Given the description of an element on the screen output the (x, y) to click on. 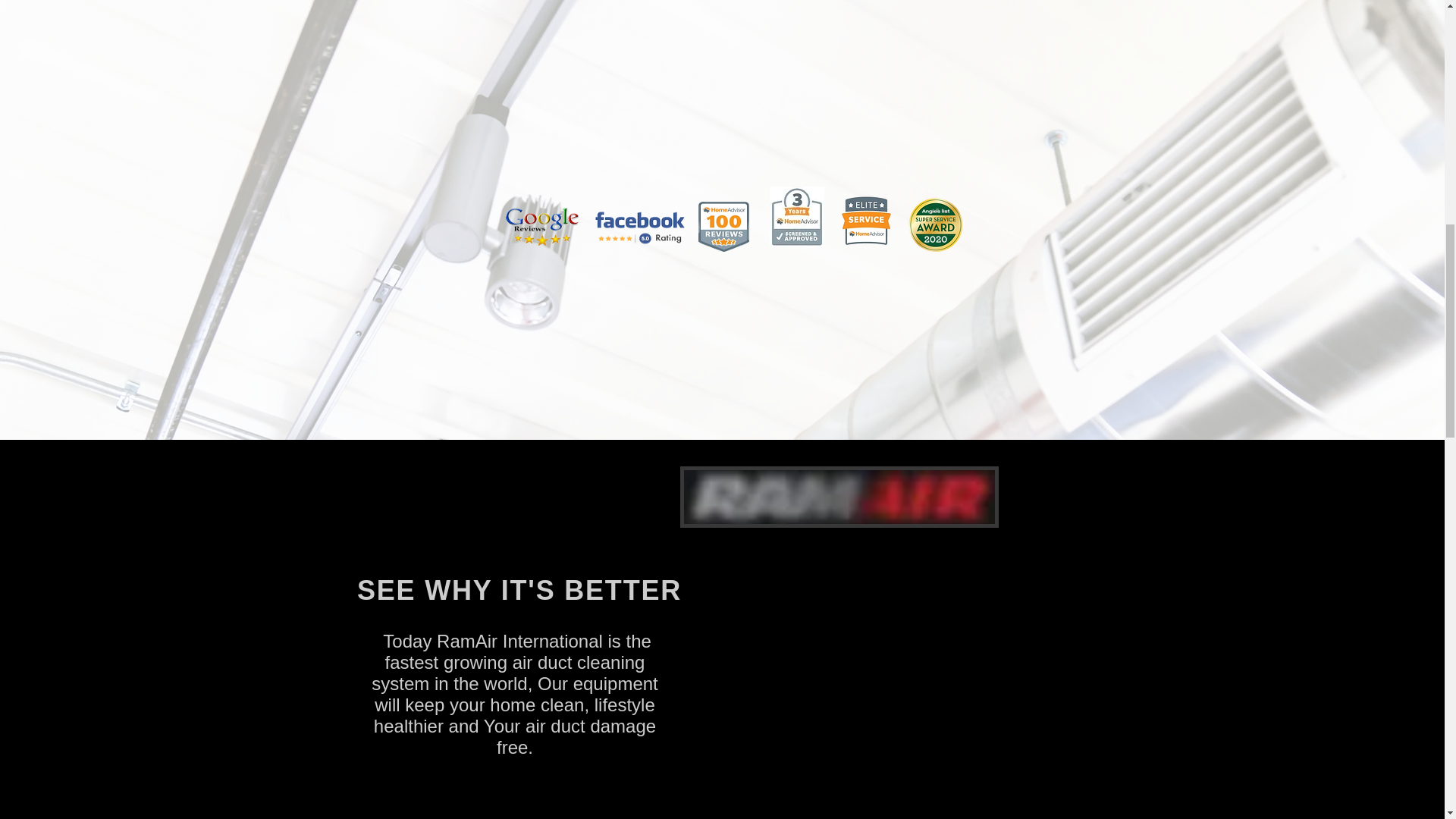
External YouTube (892, 679)
